Given the description of an element on the screen output the (x, y) to click on. 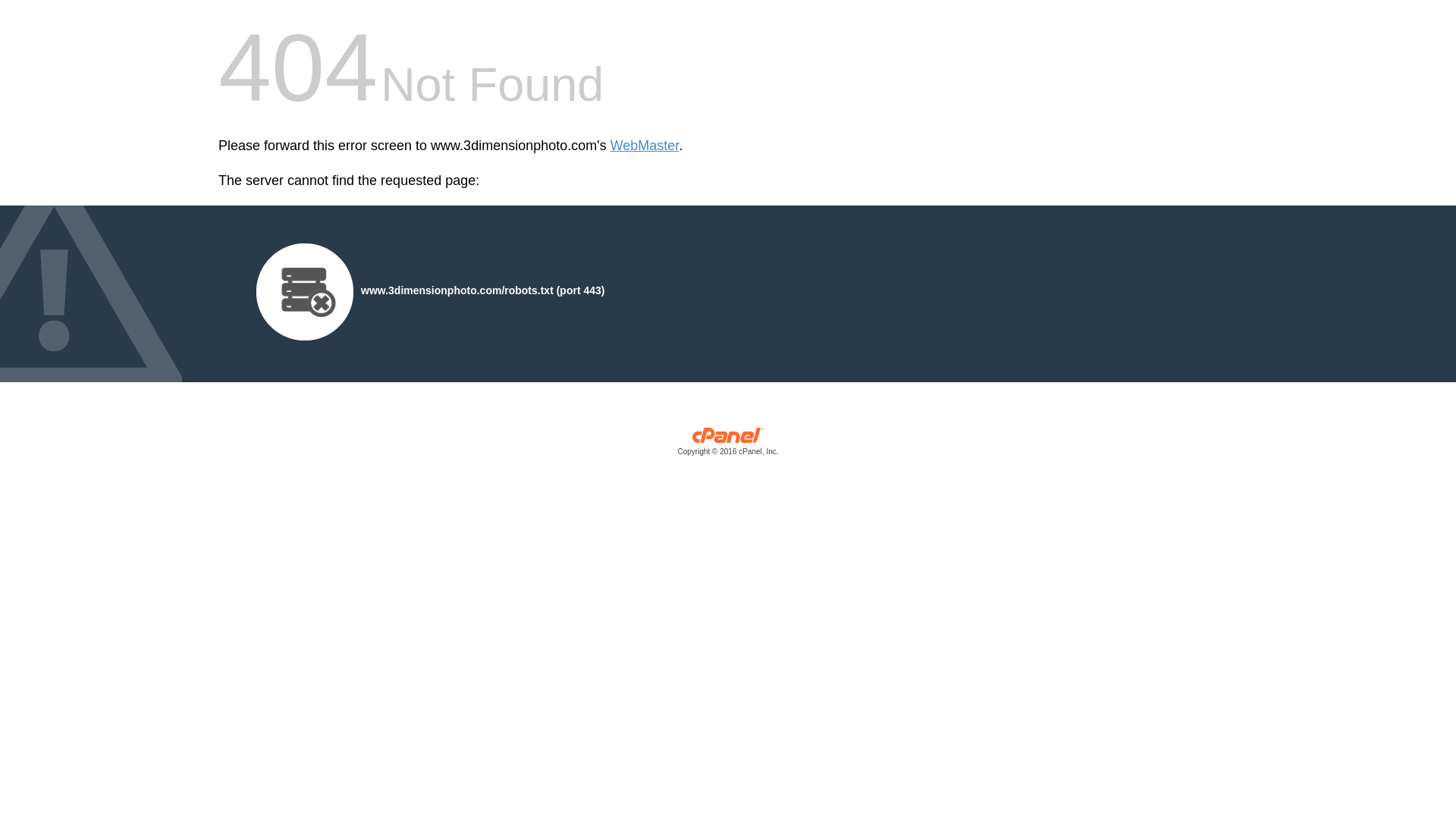
WebMaster Element type: text (644, 145)
